Given the description of an element on the screen output the (x, y) to click on. 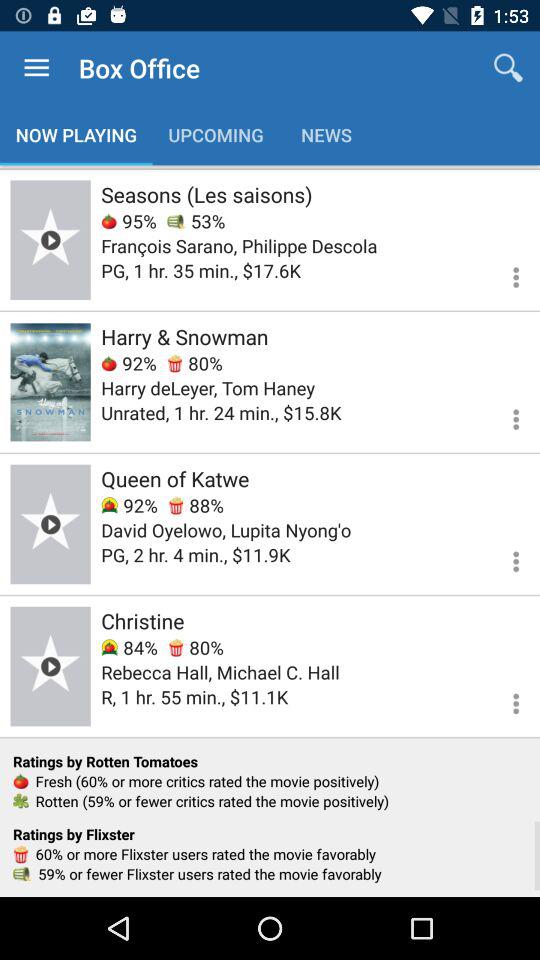
view trailer (50, 666)
